Given the description of an element on the screen output the (x, y) to click on. 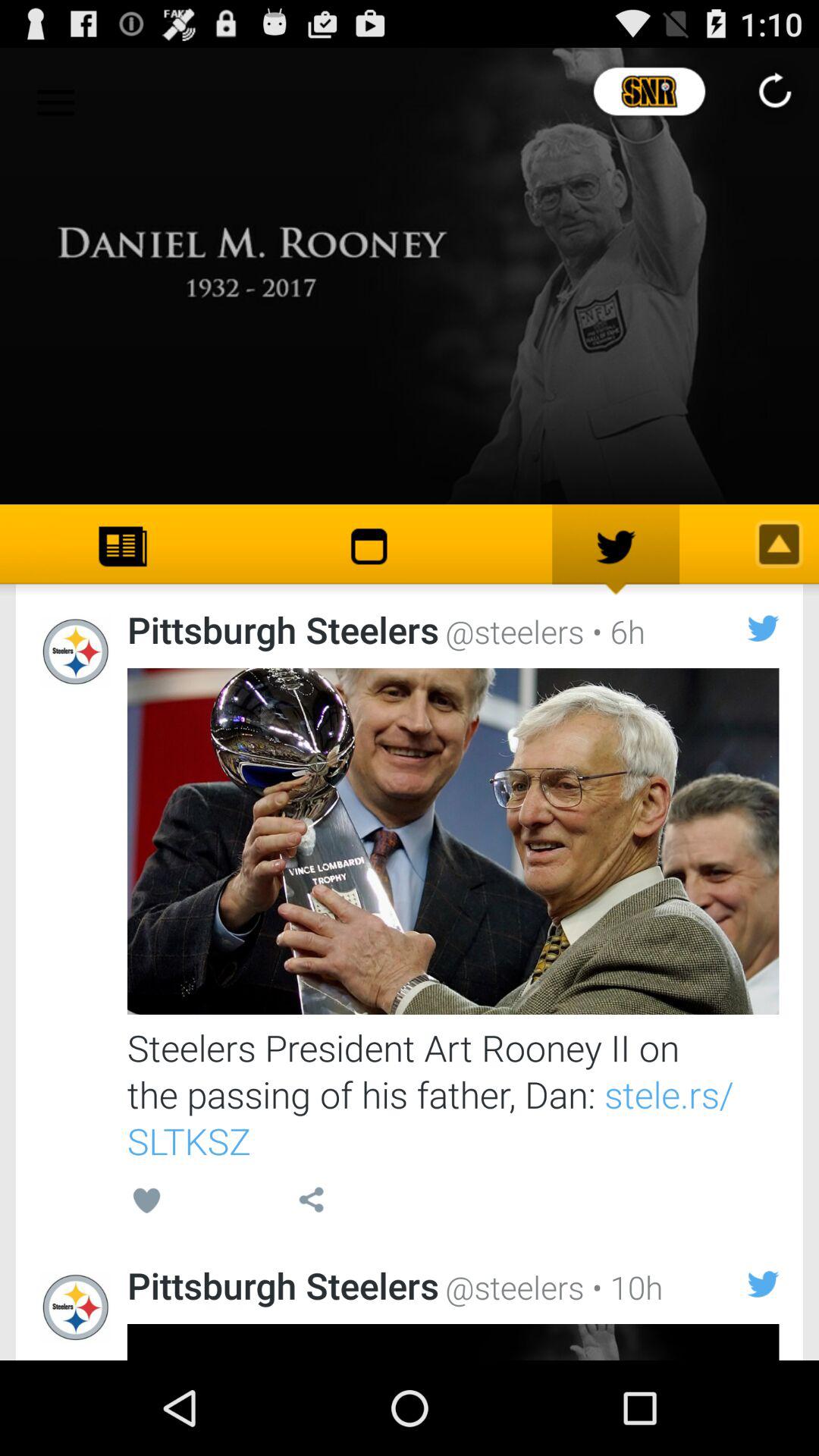
open post (453, 841)
